Given the description of an element on the screen output the (x, y) to click on. 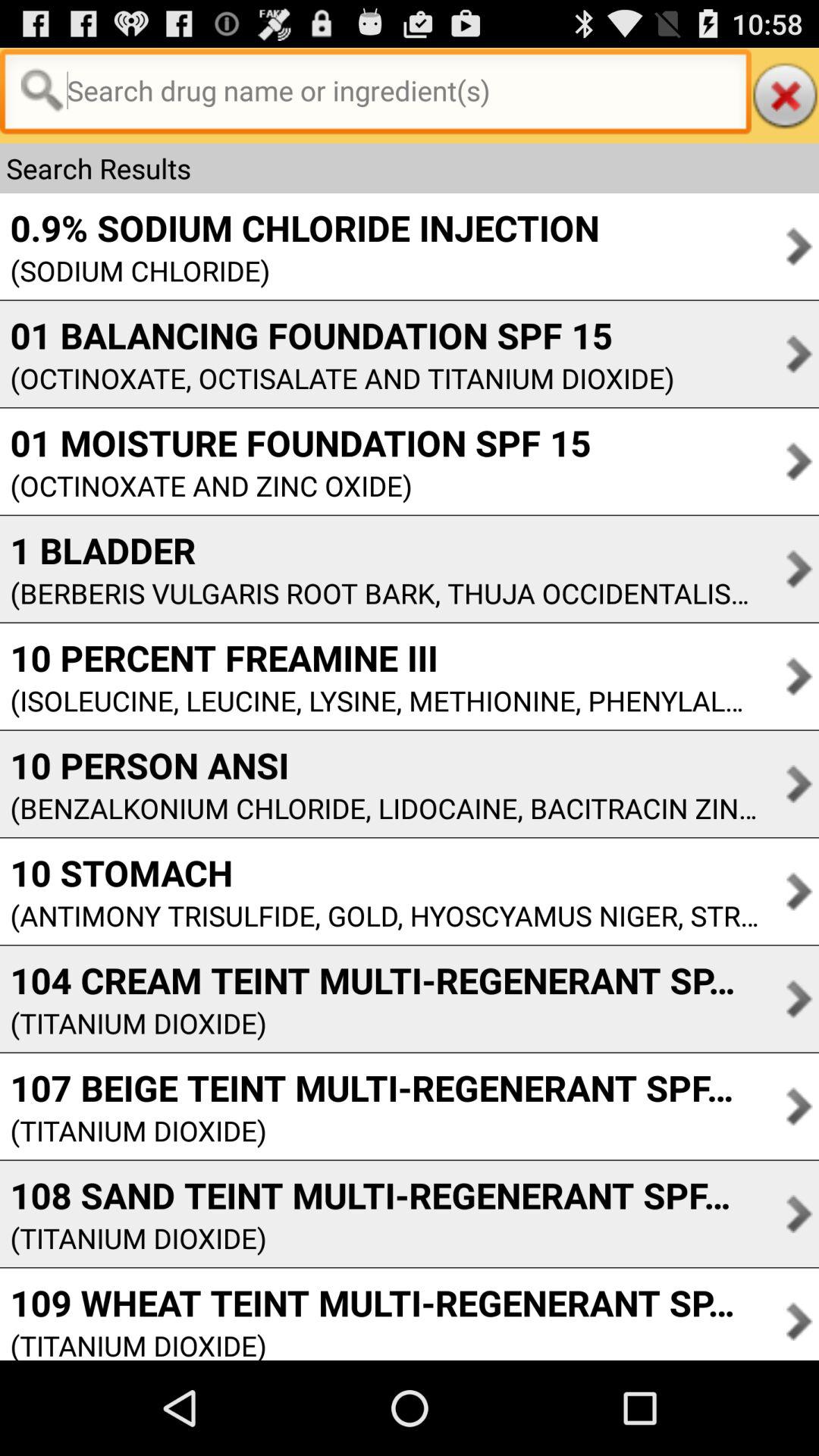
swipe until 109 wheat teint item (379, 1302)
